Given the description of an element on the screen output the (x, y) to click on. 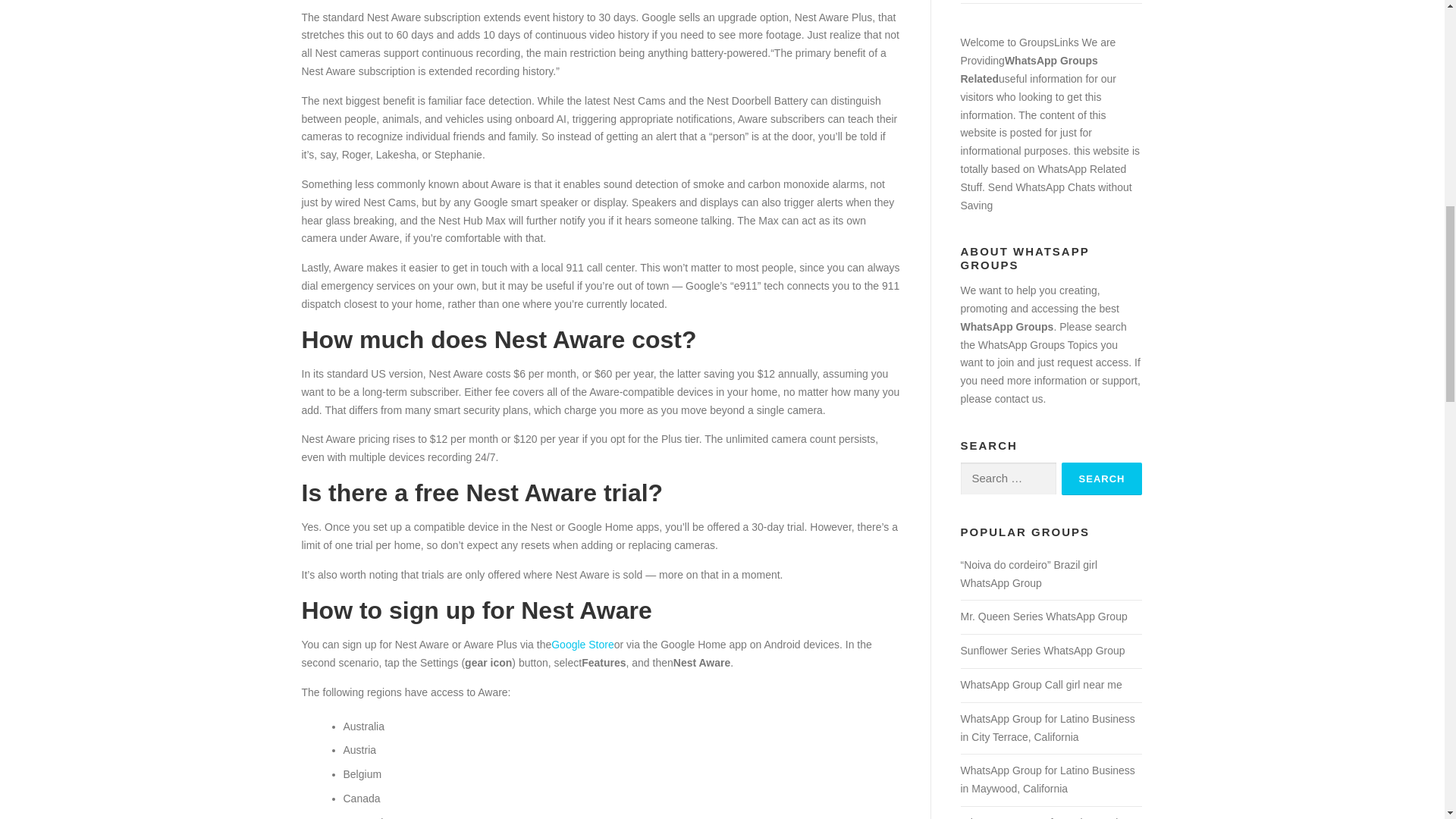
WhatsApp (1061, 168)
Search (1101, 478)
WhatsApp Group Call girl near me (1040, 684)
Search (1101, 478)
Search (1101, 478)
Sunflower Series WhatsApp Group (1041, 650)
Google Store (582, 644)
Mr. Queen Series WhatsApp Group (1042, 616)
GroupsLinks (1048, 42)
